Given the description of an element on the screen output the (x, y) to click on. 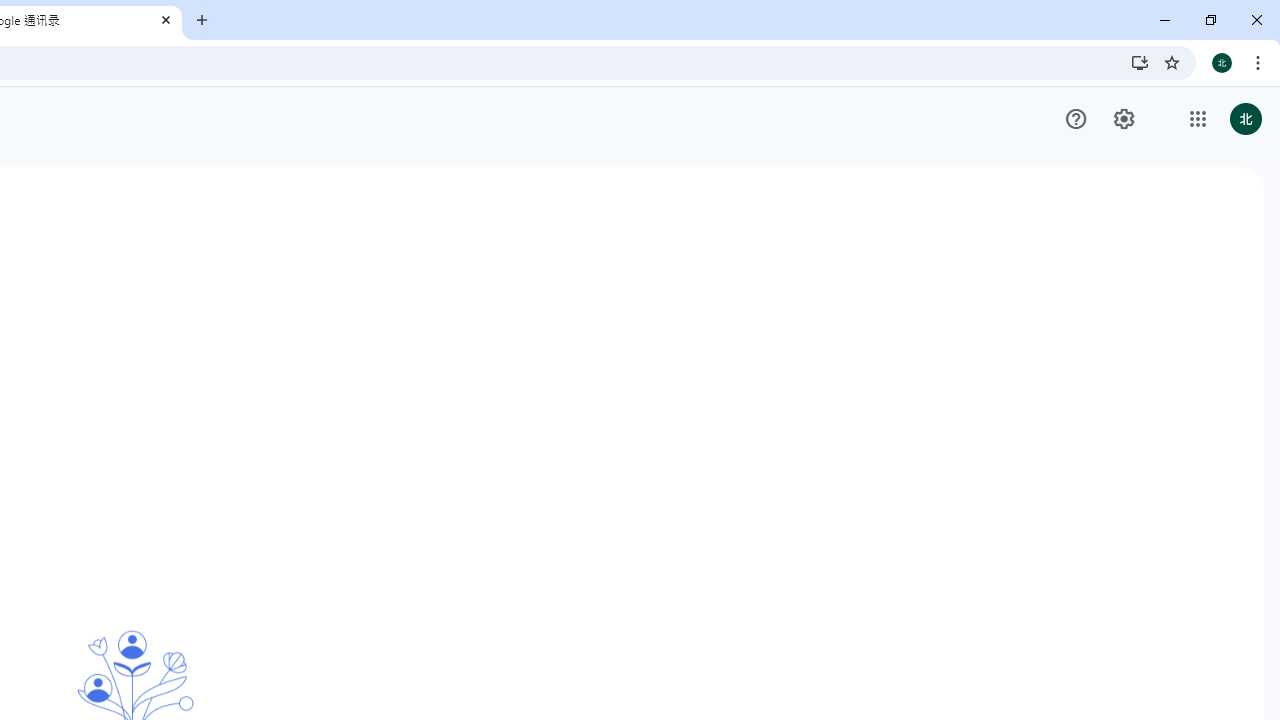
Install Google Contacts (1139, 62)
